Given the description of an element on the screen output the (x, y) to click on. 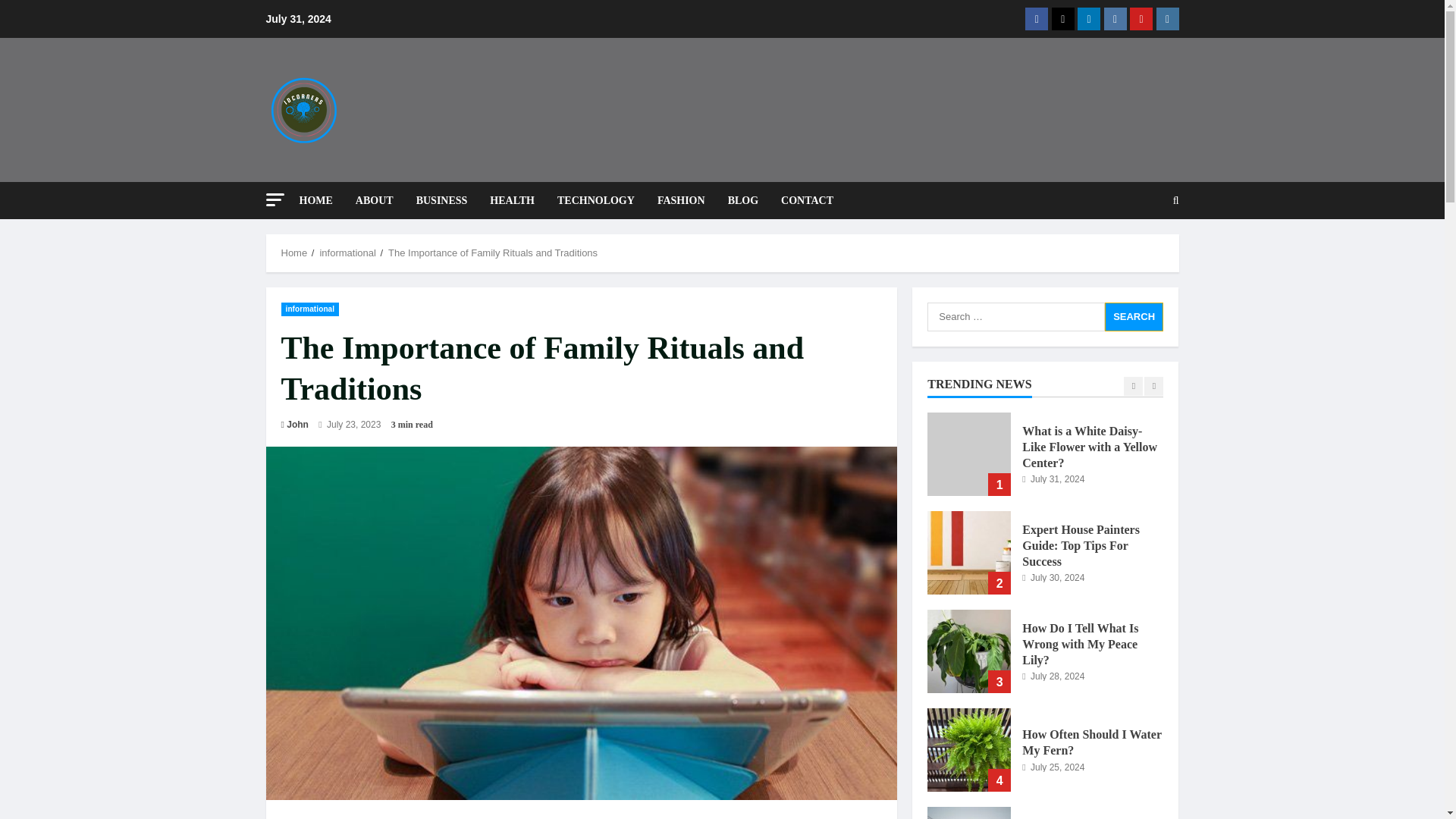
HOME (320, 200)
Twitter (1062, 18)
Facebook (1036, 18)
HEALTH (512, 200)
Youtube (1141, 18)
TECHNOLOGY (596, 200)
ABOUT (373, 200)
CONTACT (801, 200)
Search (1134, 316)
FASHION (681, 200)
Search (1134, 316)
Search (1139, 252)
BLOG (743, 200)
Instagram (1166, 18)
Linkedin (1088, 18)
